Given the description of an element on the screen output the (x, y) to click on. 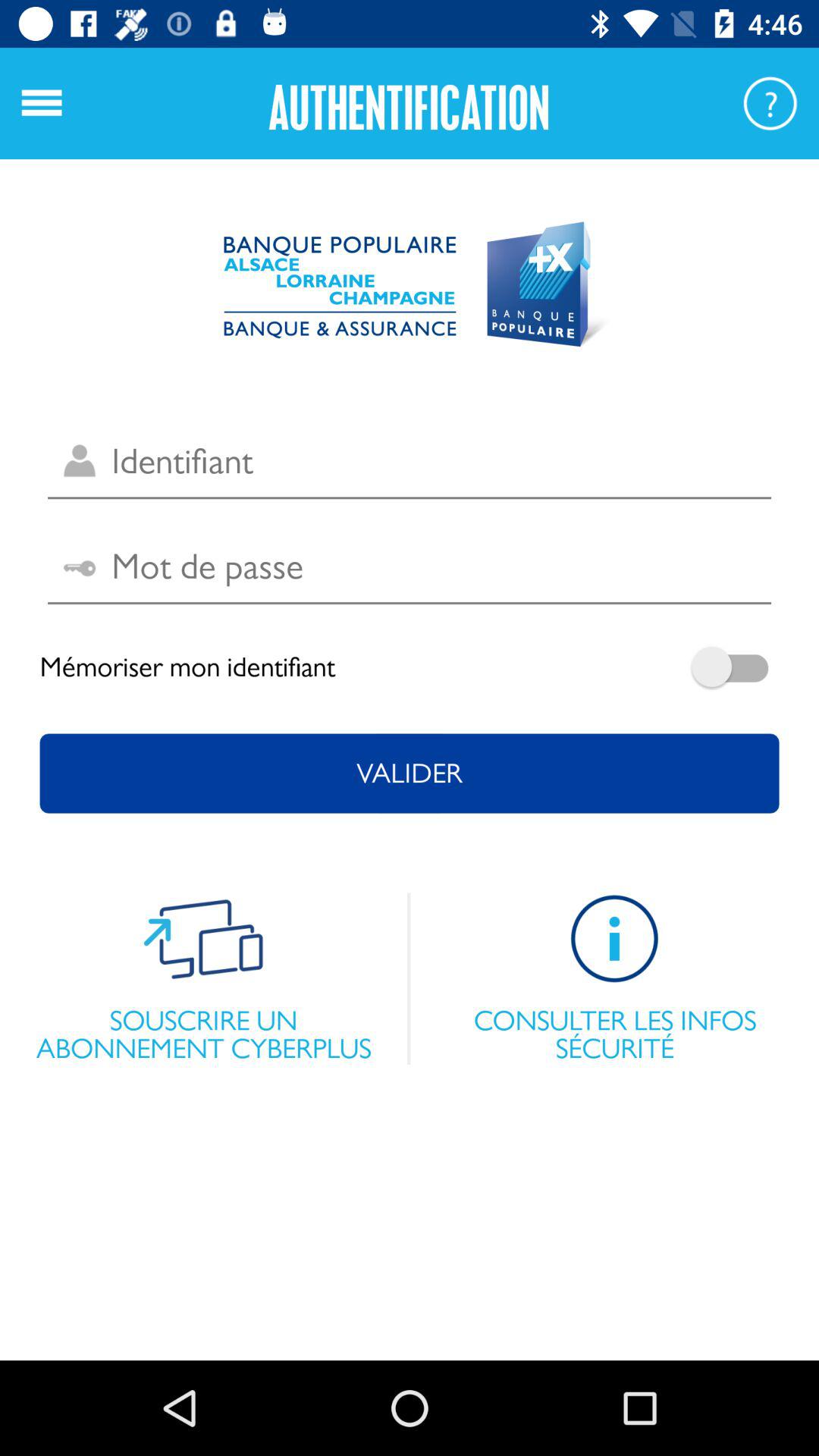
access help (770, 103)
